Given the description of an element on the screen output the (x, y) to click on. 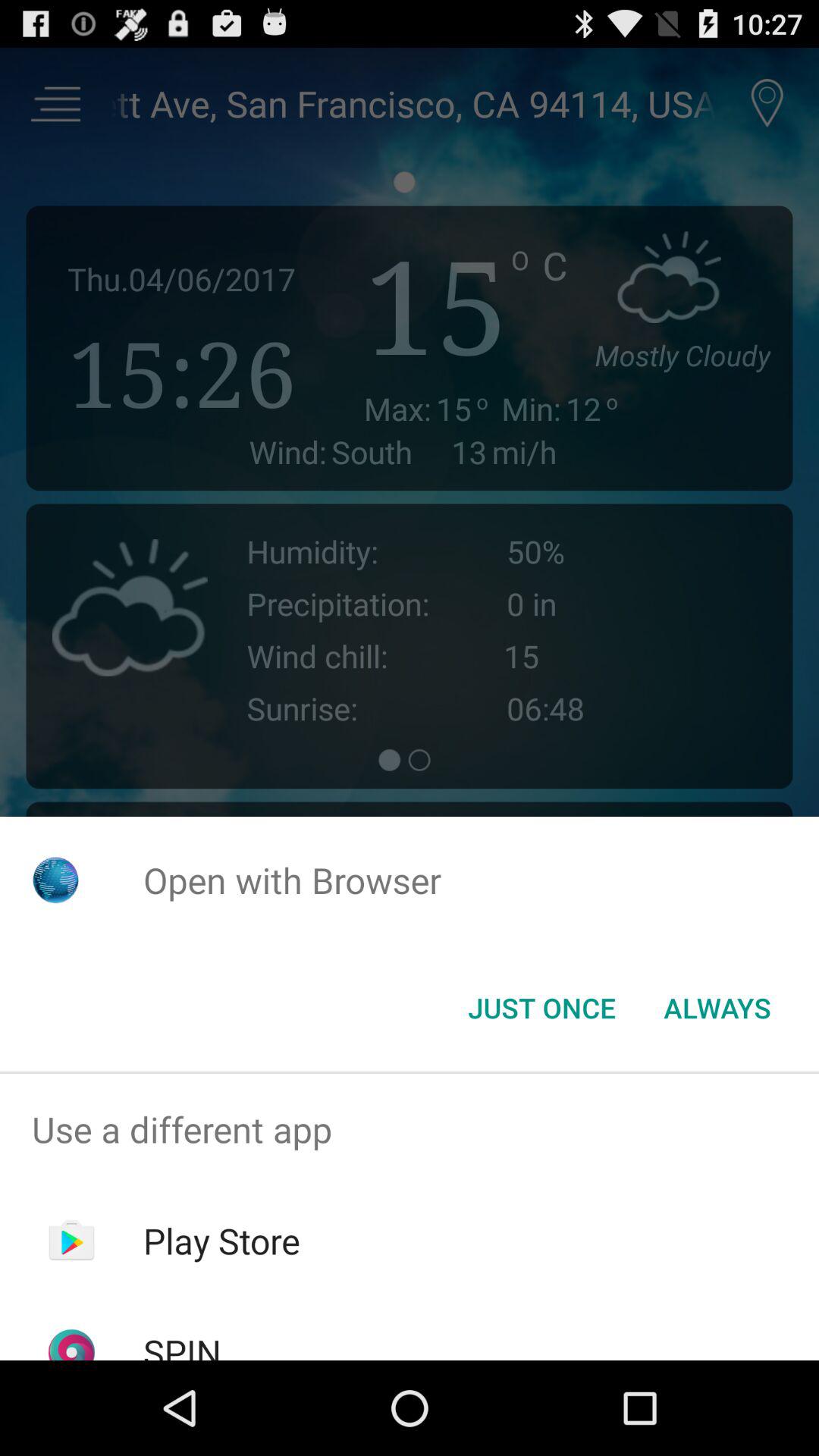
scroll until use a different icon (409, 1129)
